Given the description of an element on the screen output the (x, y) to click on. 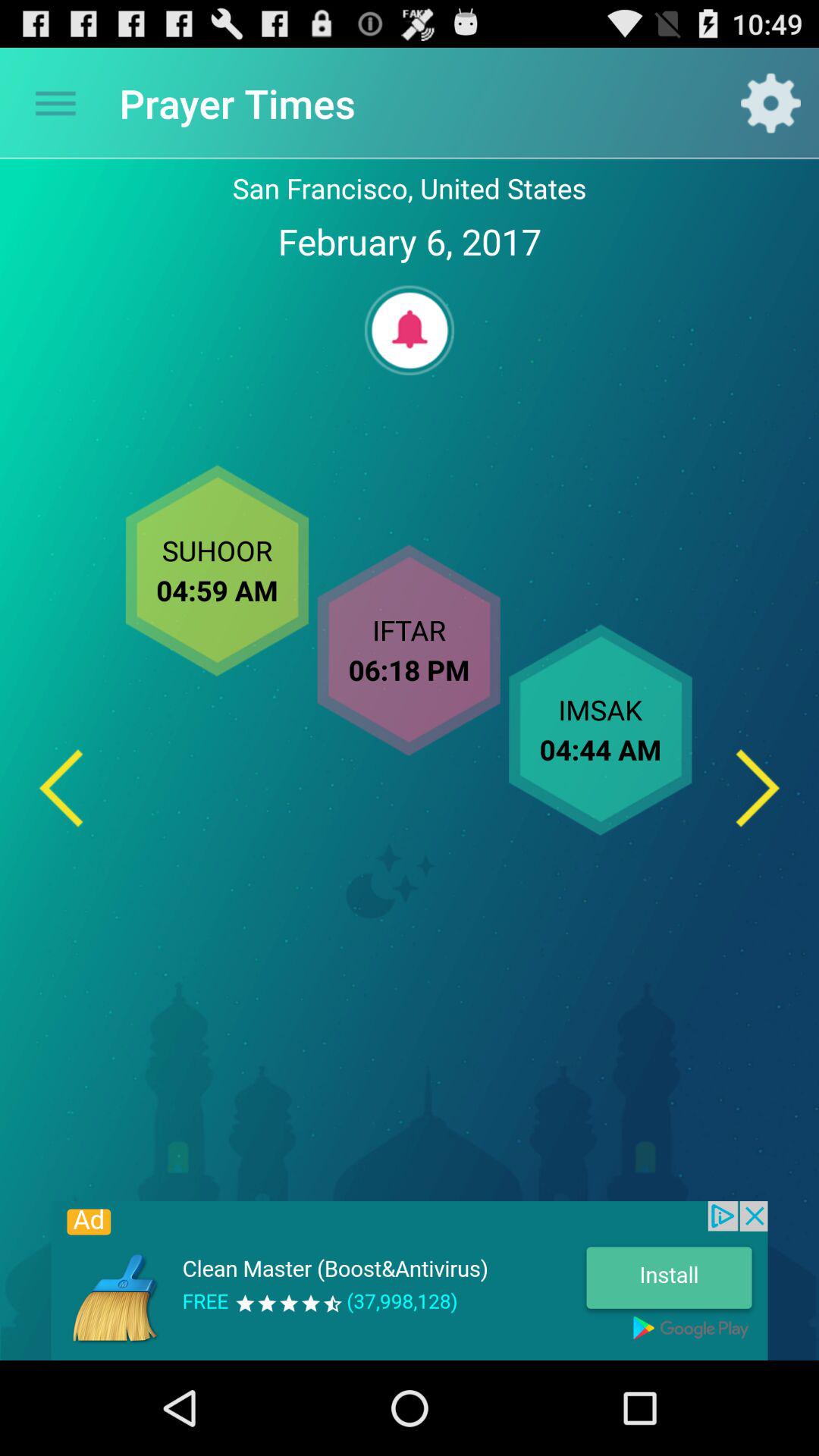
go to bell icon (409, 330)
